Given the description of an element on the screen output the (x, y) to click on. 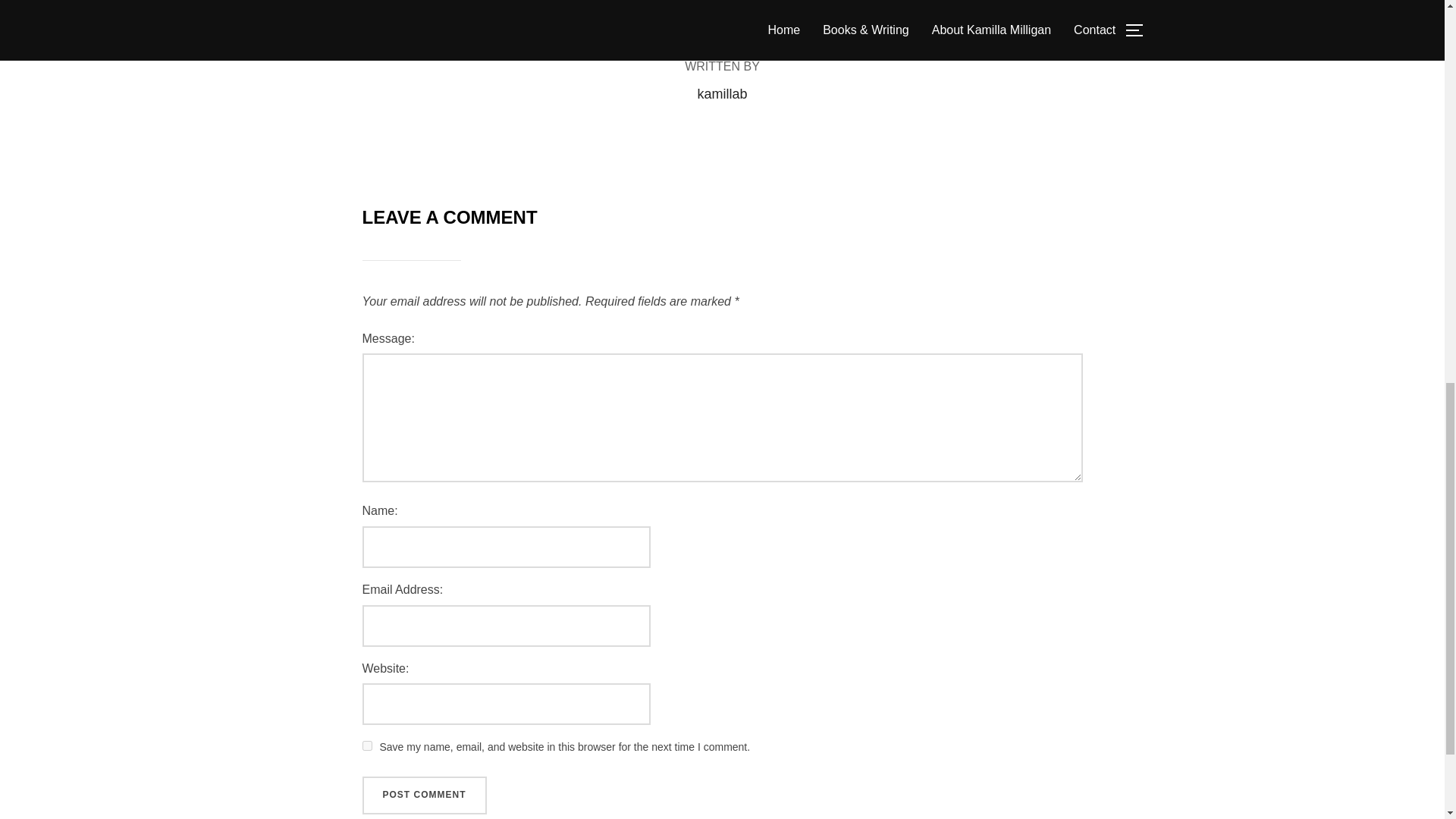
yes (367, 746)
Posts by kamillab (721, 93)
Post Comment (424, 795)
